Given the description of an element on the screen output the (x, y) to click on. 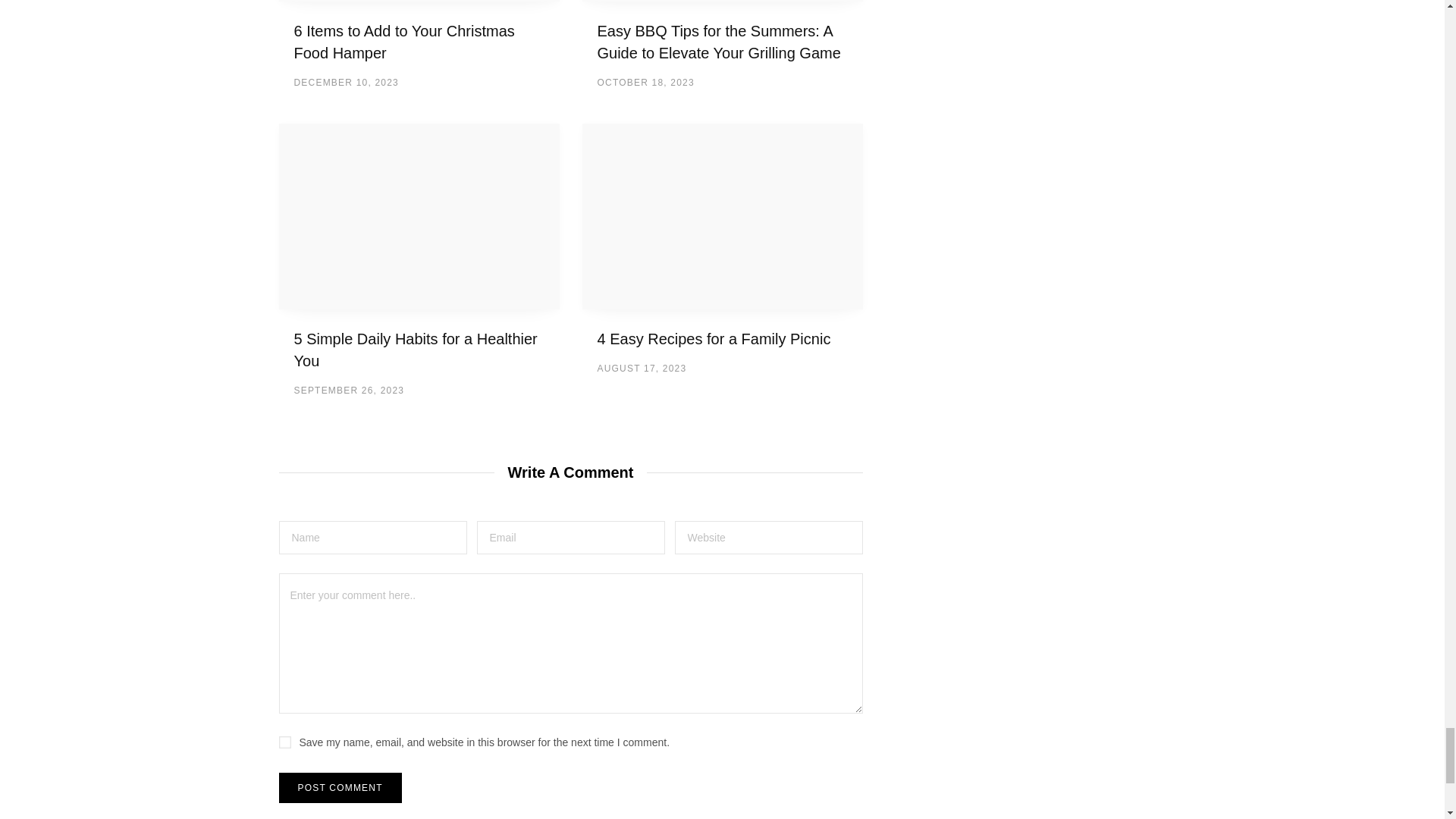
yes (285, 742)
Post Comment (340, 788)
